Given the description of an element on the screen output the (x, y) to click on. 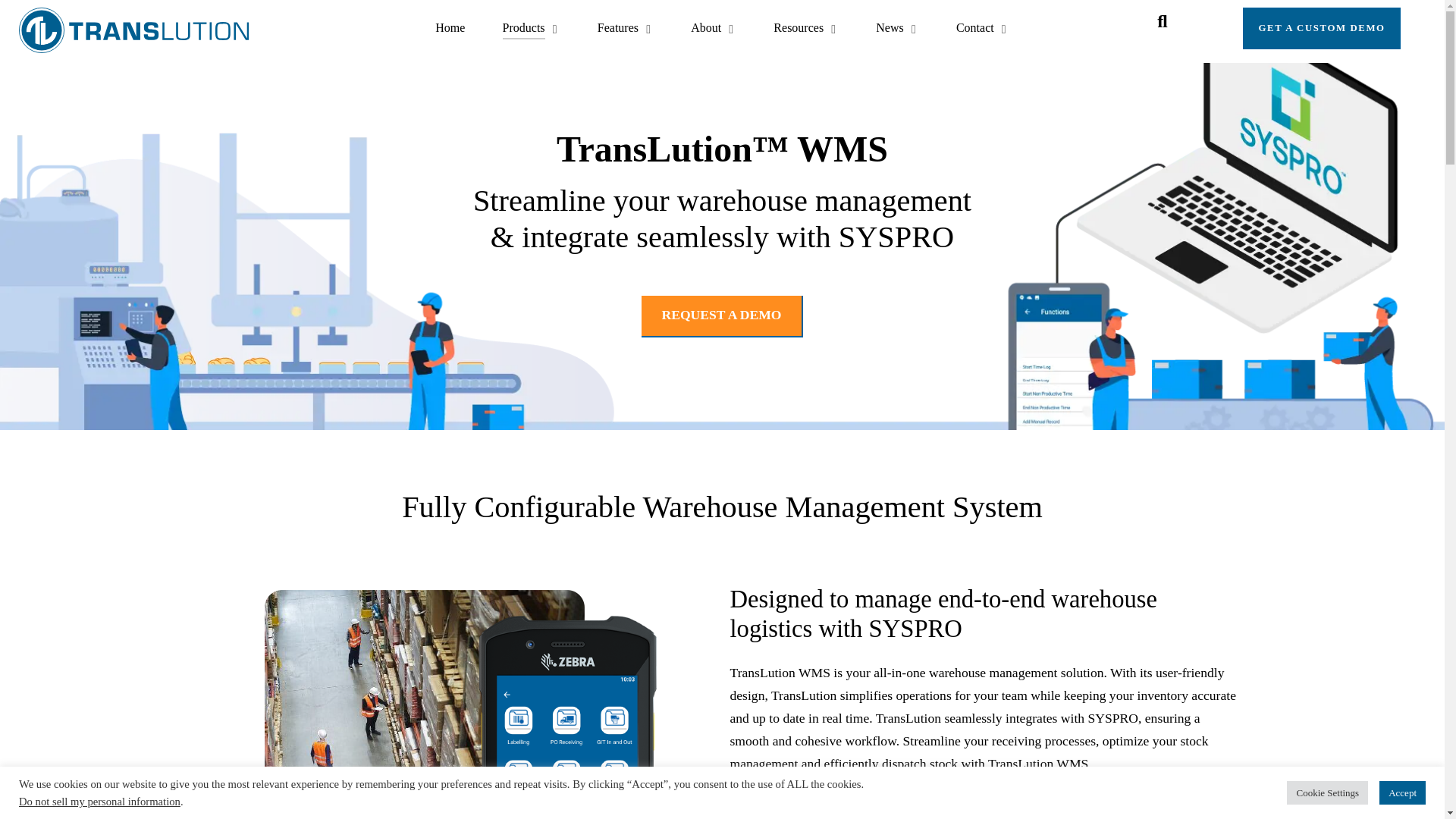
REQUEST A DEMO (722, 316)
Home (449, 29)
GET A CUSTOM DEMO (1321, 28)
